Given the description of an element on the screen output the (x, y) to click on. 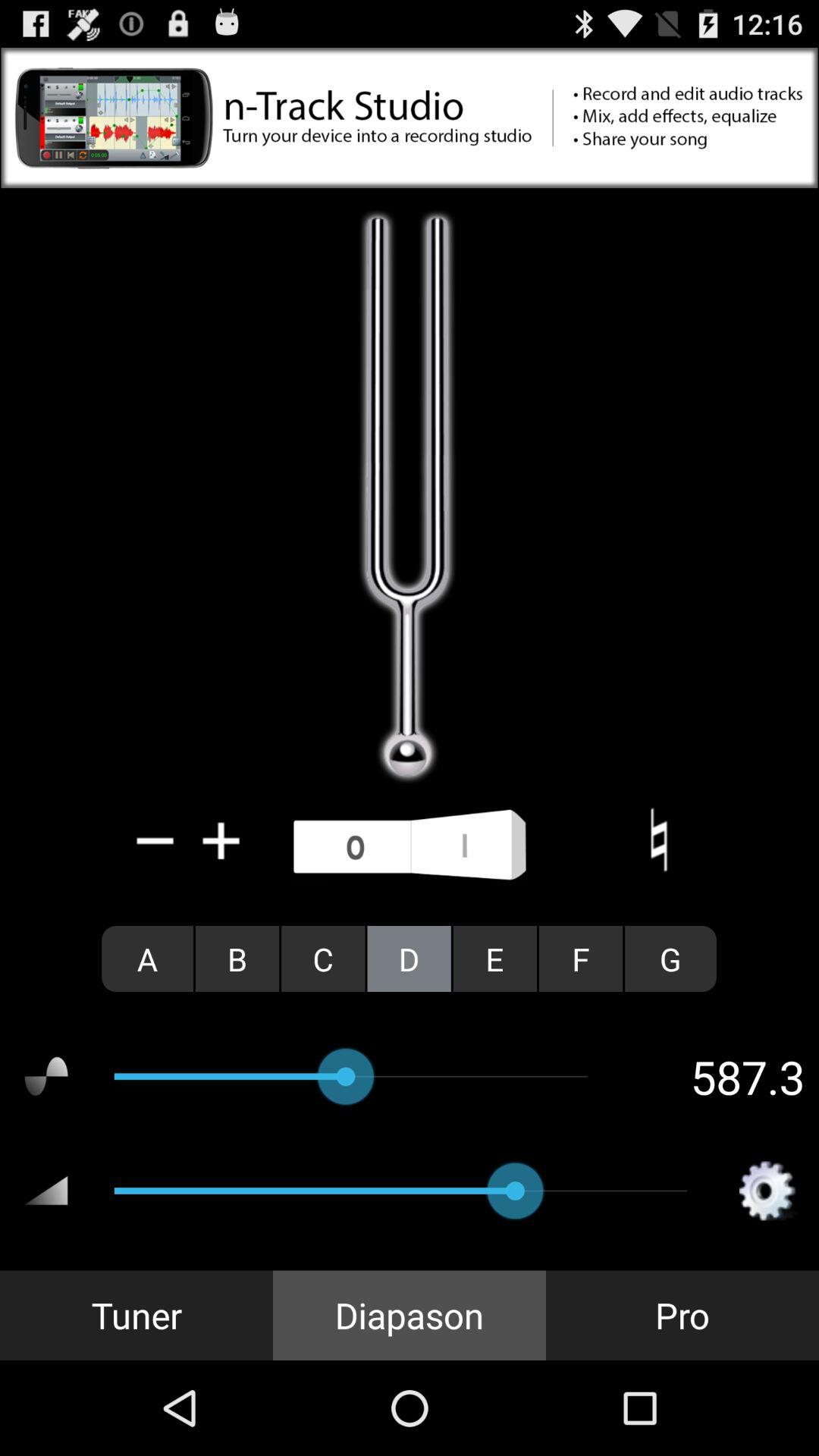
volume down (155, 840)
